Given the description of an element on the screen output the (x, y) to click on. 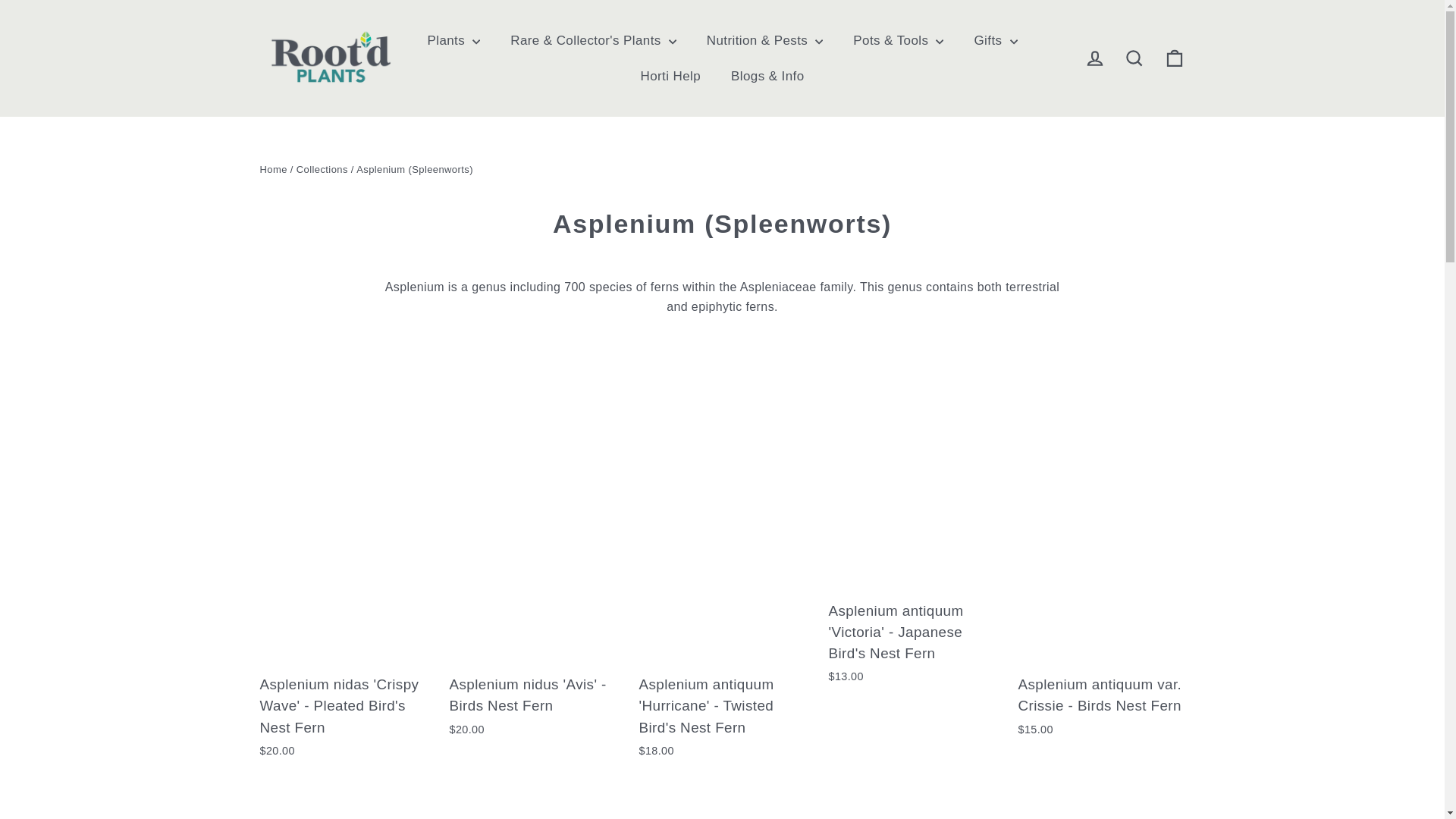
Back to the frontpage (272, 169)
